Given the description of an element on the screen output the (x, y) to click on. 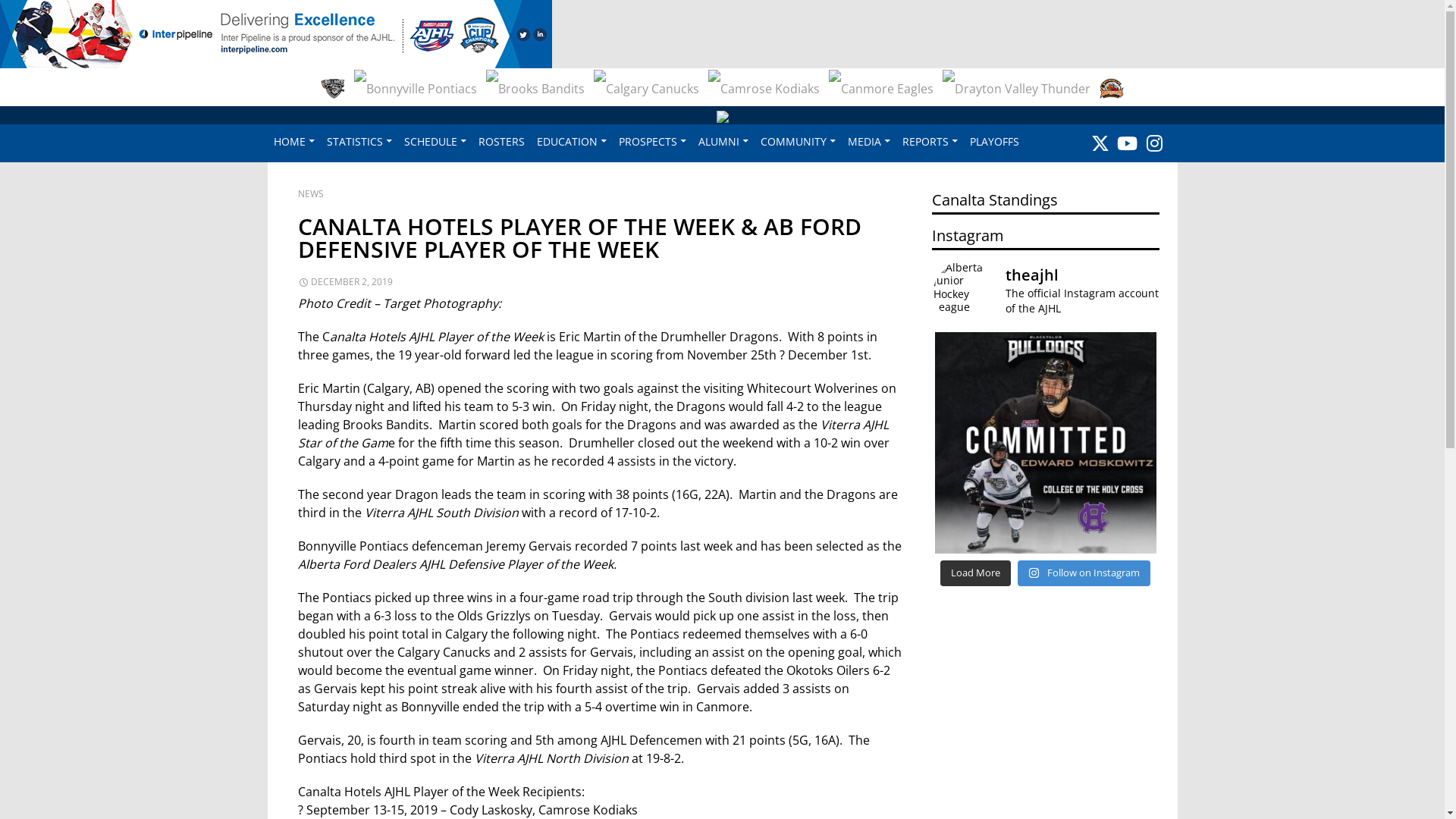
Bonnyville Pontiacs Element type: hover (415, 88)
Instagram Element type: hover (1154, 142)
HOME Element type: text (293, 141)
MEDIA Element type: text (868, 141)
Okotoks Oilers Element type: hover (802, 127)
Load More Element type: text (975, 573)
Sherwood Park Crusaders Element type: hover (929, 127)
PLAYOFFS Element type: text (993, 141)
Grande Prairie Storm Element type: hover (567, 127)
ROSTERS Element type: text (500, 141)
theajhl
The official Instagram account of the AJHL Element type: text (1046, 290)
Drayton Valley Thunder Element type: hover (1016, 88)
Whitecourt Wolverines Element type: hover (1100, 127)
Spruce Grove Saints Element type: hover (1014, 127)
DECEMBER 2, 2019 Element type: text (345, 281)
REPORTS Element type: text (929, 141)
Canmore Eagles Element type: hover (880, 88)
PROSPECTS Element type: text (652, 141)
Olds Grizzlys Element type: hover (866, 127)
STATISTICS Element type: text (358, 141)
Calgary Canucks Element type: hover (646, 88)
Lloydminster Bobcats Element type: hover (712, 127)
Twitter Element type: hover (1099, 142)
Alberta Junior Hockey League Element type: hover (721, 114)
Brooks Bandits Element type: hover (535, 88)
COMMUNITY Element type: text (796, 141)
ALUMNI Element type: text (722, 141)
SCHEDULE Element type: text (434, 141)
Follow on Instagram Element type: text (1083, 573)
Fort McMurray Oil Barons Element type: hover (411, 127)
Camrose Kodiaks Element type: hover (763, 88)
NEWS Element type: text (310, 193)
Blackfalds Bulldogs Element type: hover (332, 88)
YouTube Element type: hover (1127, 142)
Drumheller Dragons Element type: hover (1111, 88)
EDUCATION Element type: text (571, 141)
